Given the description of an element on the screen output the (x, y) to click on. 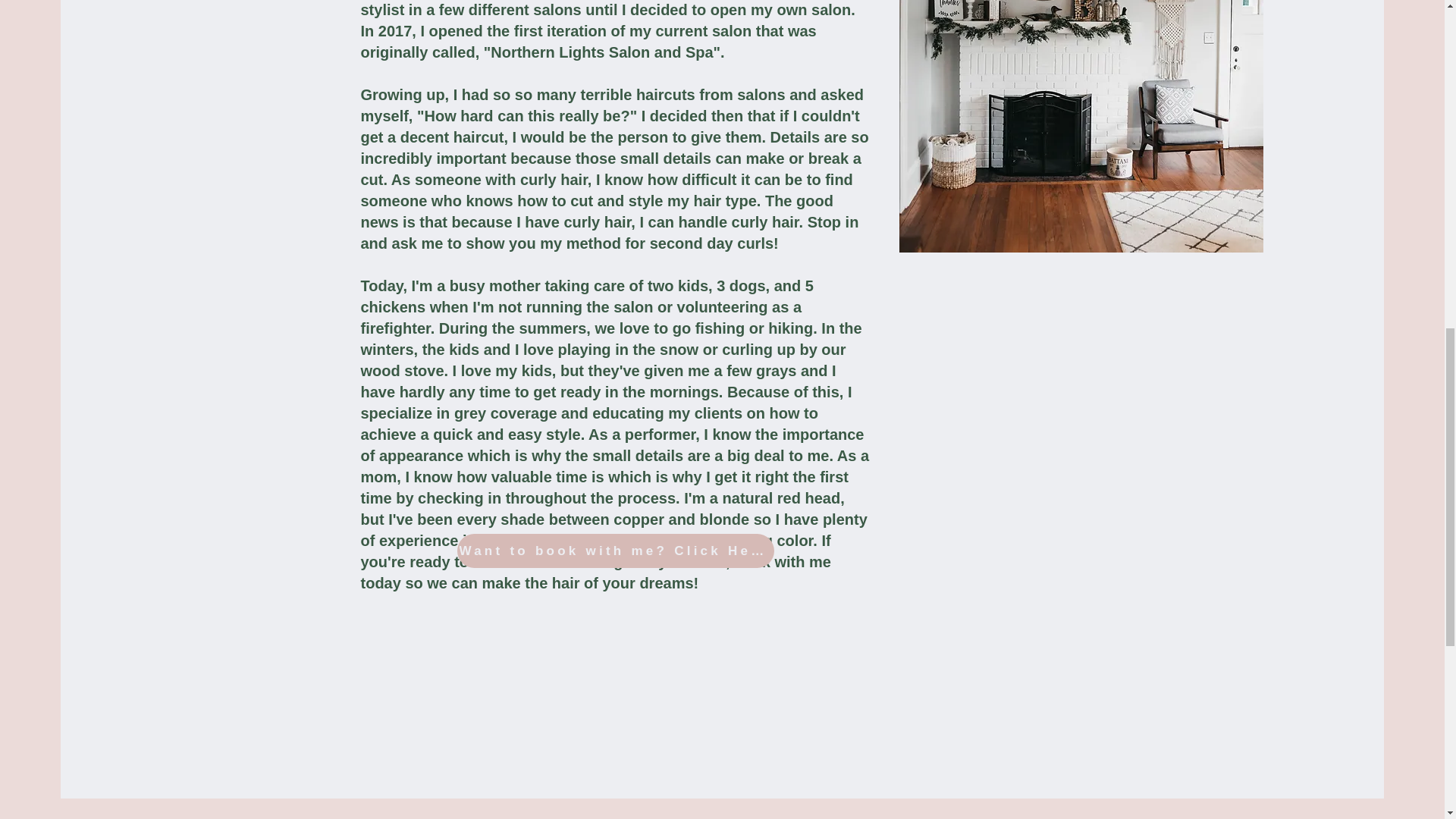
Instagram Feed (721, 808)
Want to book with me? Click Here! (615, 550)
